Given the description of an element on the screen output the (x, y) to click on. 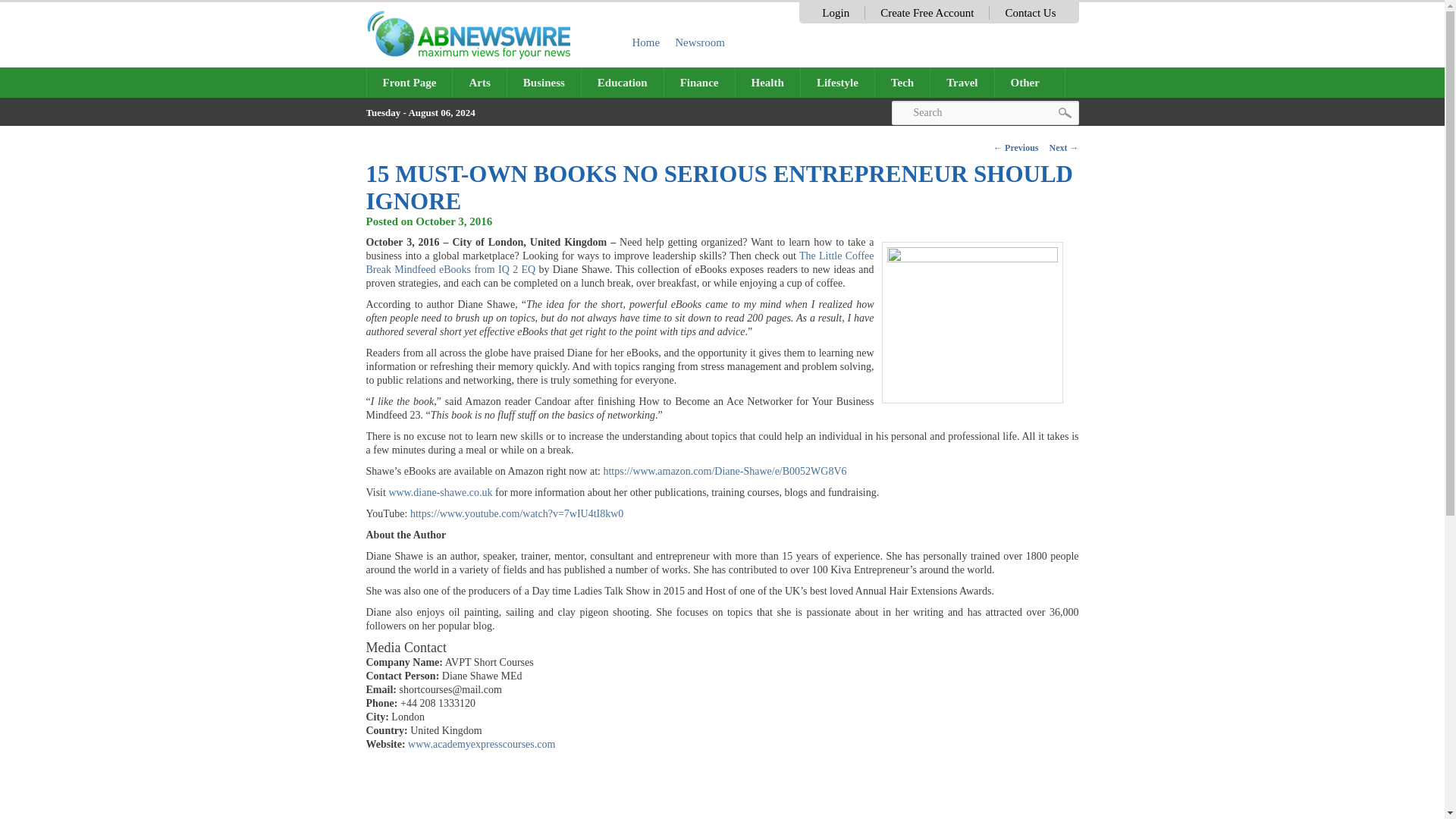
Health (767, 82)
Newsroom (700, 42)
Front Page (409, 82)
Tech (901, 82)
Home (646, 42)
Other (1029, 82)
Search (984, 112)
Search (984, 112)
Travel (961, 82)
image (971, 322)
